Given the description of an element on the screen output the (x, y) to click on. 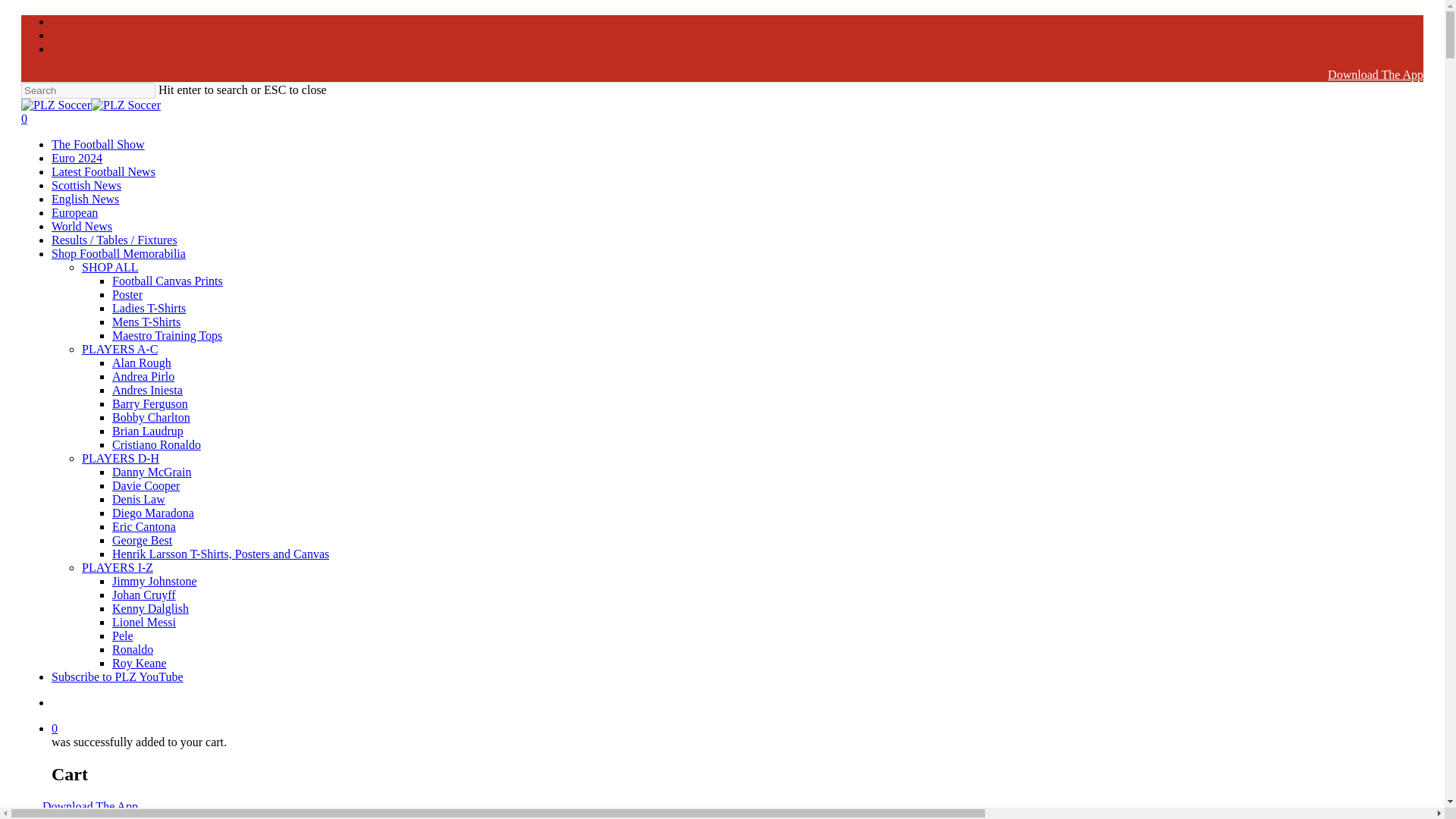
Maestro Training Tops (167, 335)
Shop Football Memorabilia (118, 253)
Football Canvas Prints (167, 280)
Brian Laudrup (147, 431)
English News (84, 198)
George Best (141, 540)
Danny McGrain (151, 472)
Scottish News (85, 185)
Ladies T-Shirts (149, 308)
PLAYERS A-C (119, 349)
Barry Ferguson (149, 403)
Cristiano Ronaldo (156, 444)
Diego Maradona (152, 512)
SHOP ALL (109, 267)
